Given the description of an element on the screen output the (x, y) to click on. 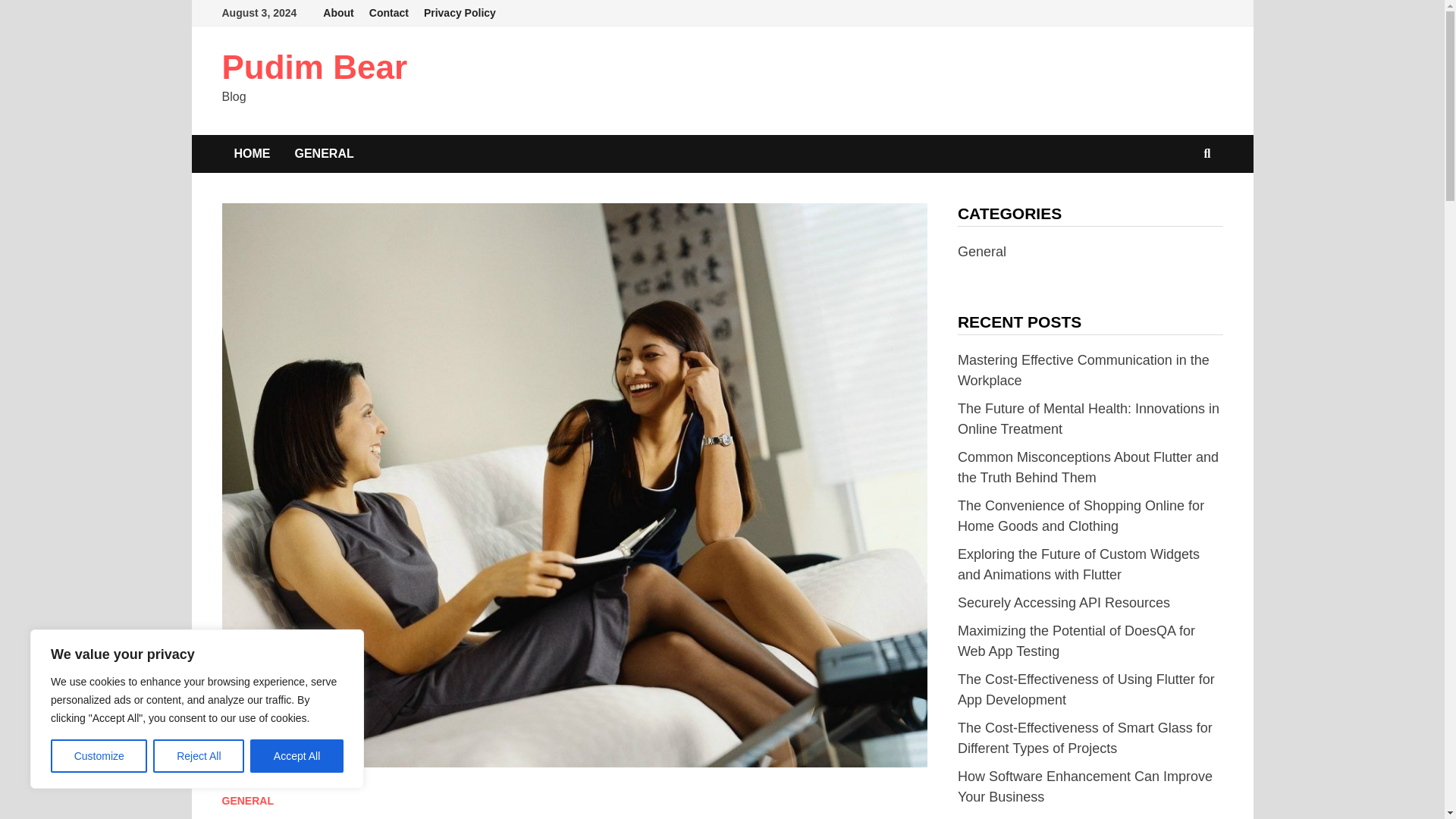
Reject All (198, 756)
GENERAL (323, 153)
GENERAL (247, 800)
Pudim Bear (314, 66)
Accept All (296, 756)
HOME (251, 153)
Customize (98, 756)
Privacy Policy (459, 13)
About (338, 13)
Contact (388, 13)
